Given the description of an element on the screen output the (x, y) to click on. 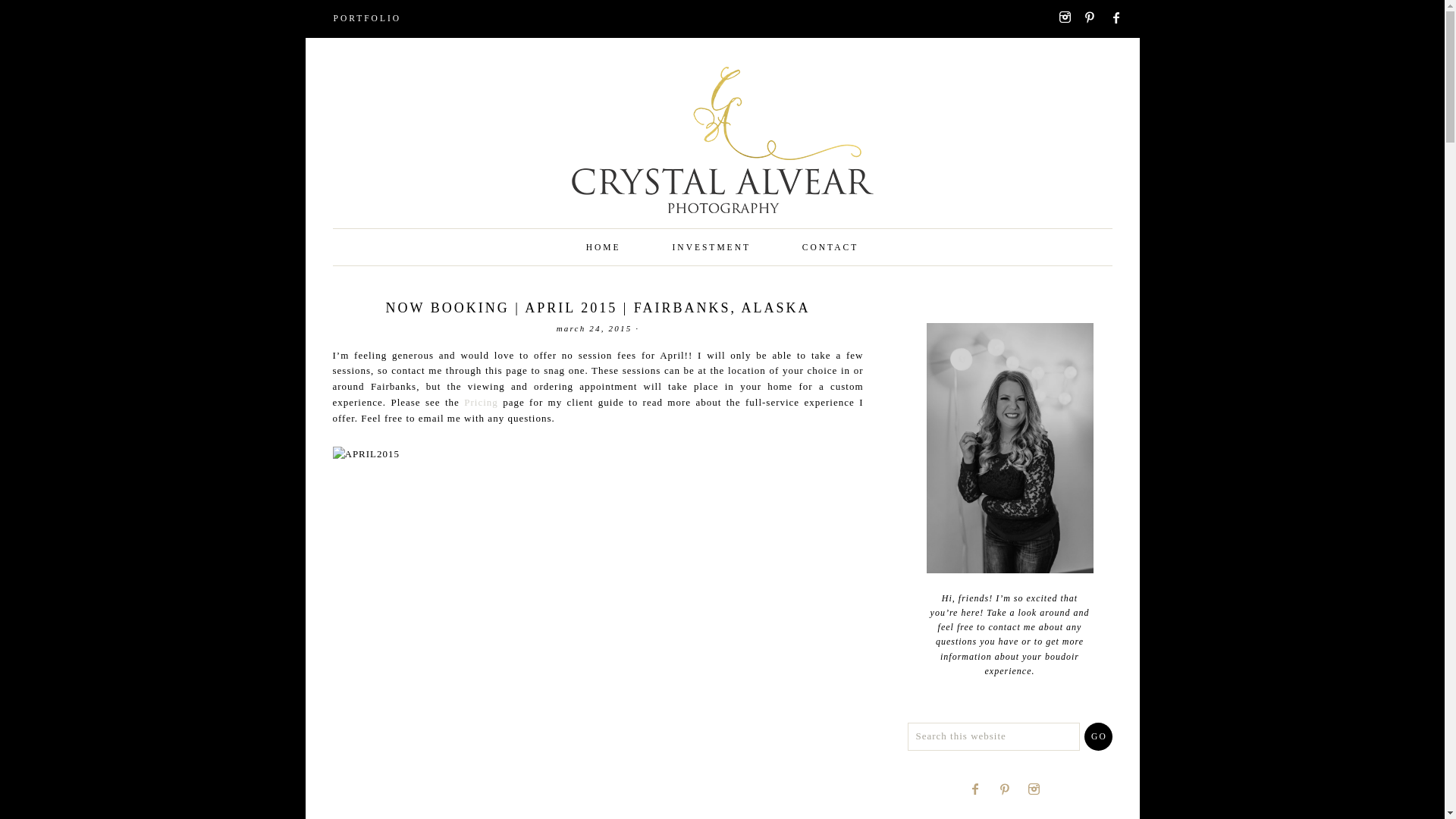
Fairbanks Boudoir Photographer (603, 247)
Pinterest (1010, 789)
FAIRBANKS BOUDOIR PHOTOGRAPHER (721, 159)
Pricing (480, 401)
CONTACT (829, 247)
Instagram (1038, 789)
HOME (603, 247)
Pricing (480, 401)
GO (1098, 736)
Instagram (1070, 17)
